Given the description of an element on the screen output the (x, y) to click on. 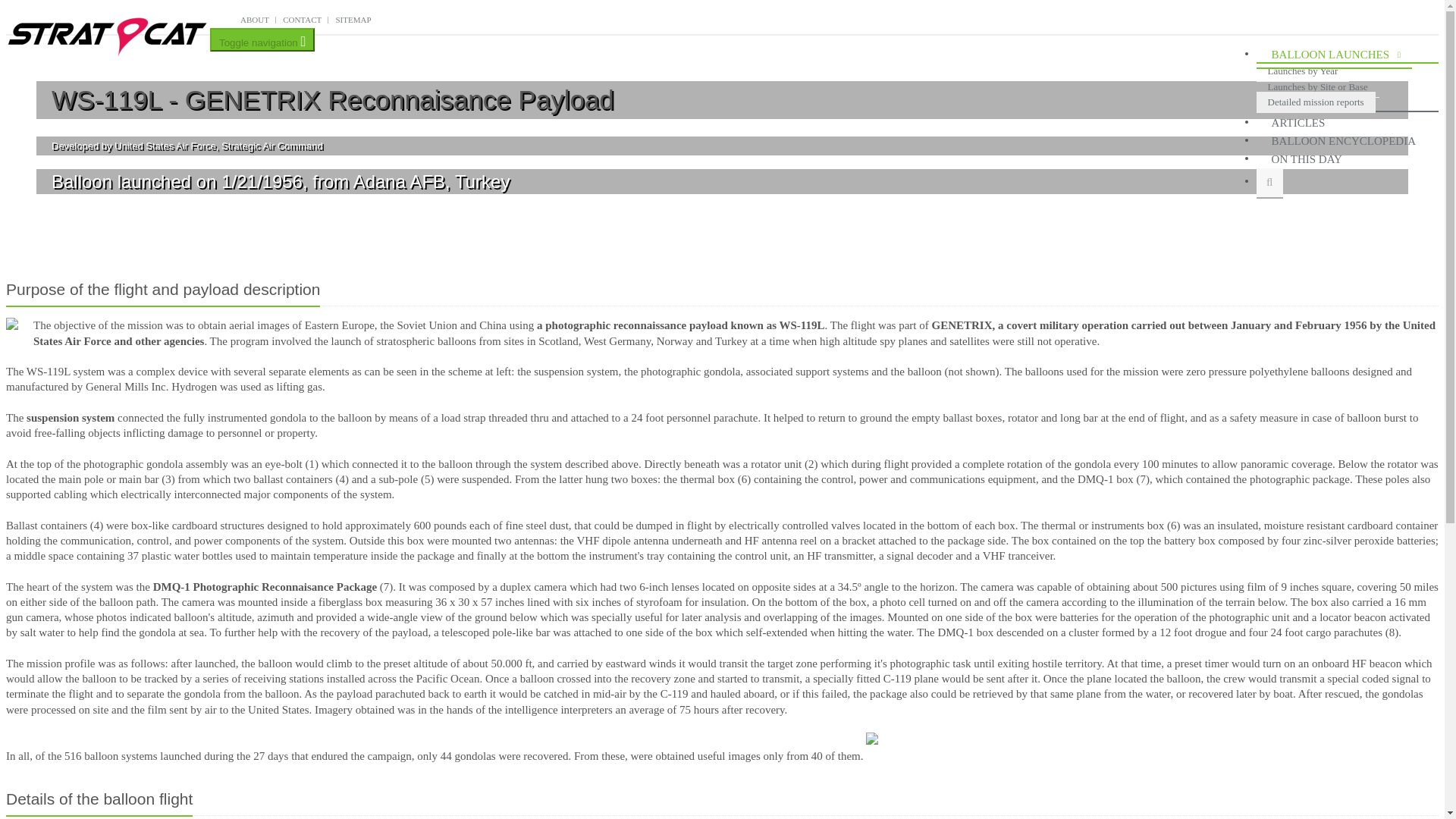
ARTICLES (1302, 123)
ABOUT (254, 19)
Detailed mission reports (1315, 102)
BALLOON LAUNCHES (1334, 54)
CONTACT (301, 19)
Launches by Site or Base (1317, 86)
Launches by Year (1302, 70)
Toggle navigation (261, 39)
ON THIS DAY (1310, 159)
SITEMAP (352, 19)
